Given the description of an element on the screen output the (x, y) to click on. 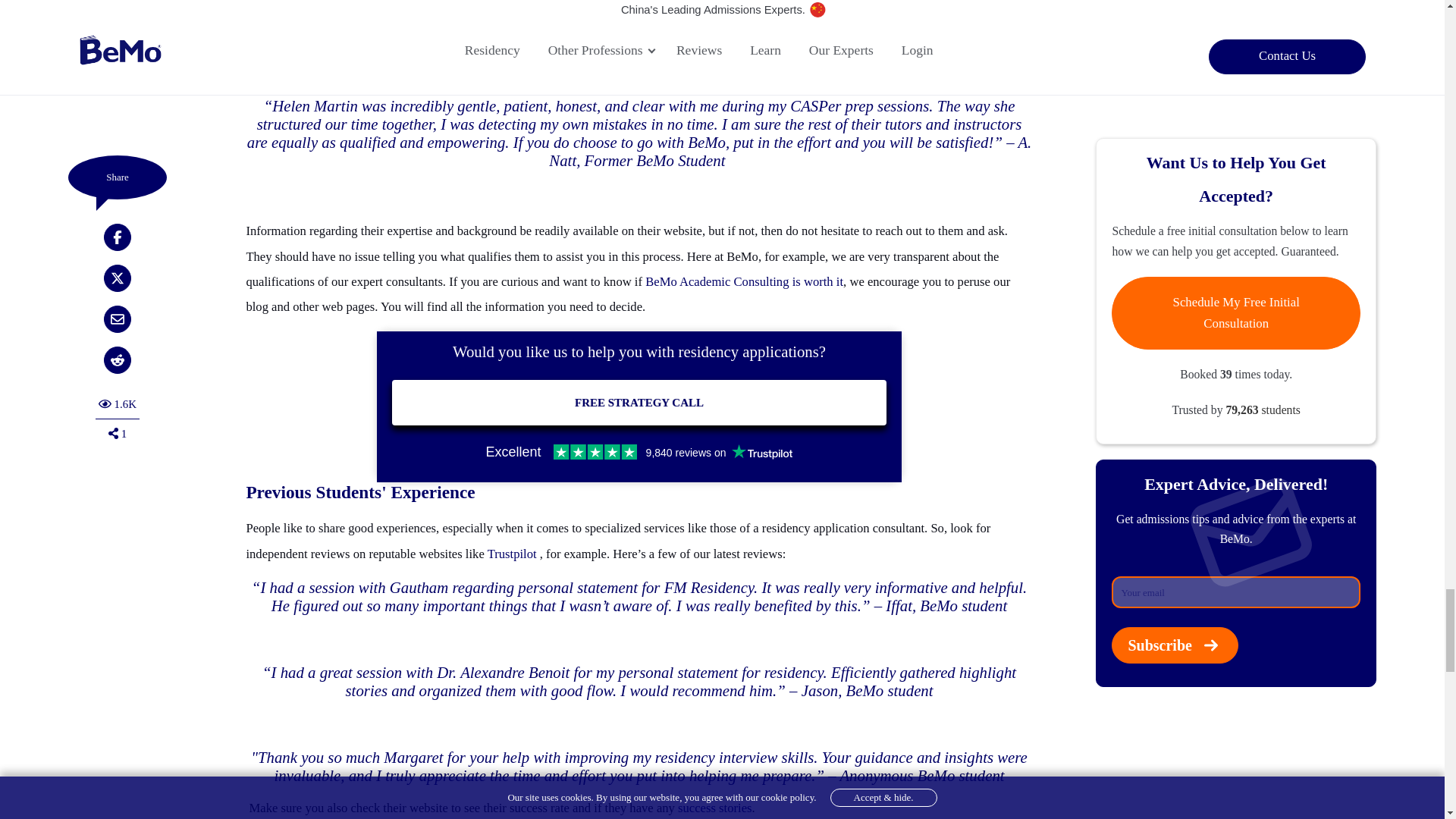
Customer reviews powered by Trustpilot (638, 451)
